Given the description of an element on the screen output the (x, y) to click on. 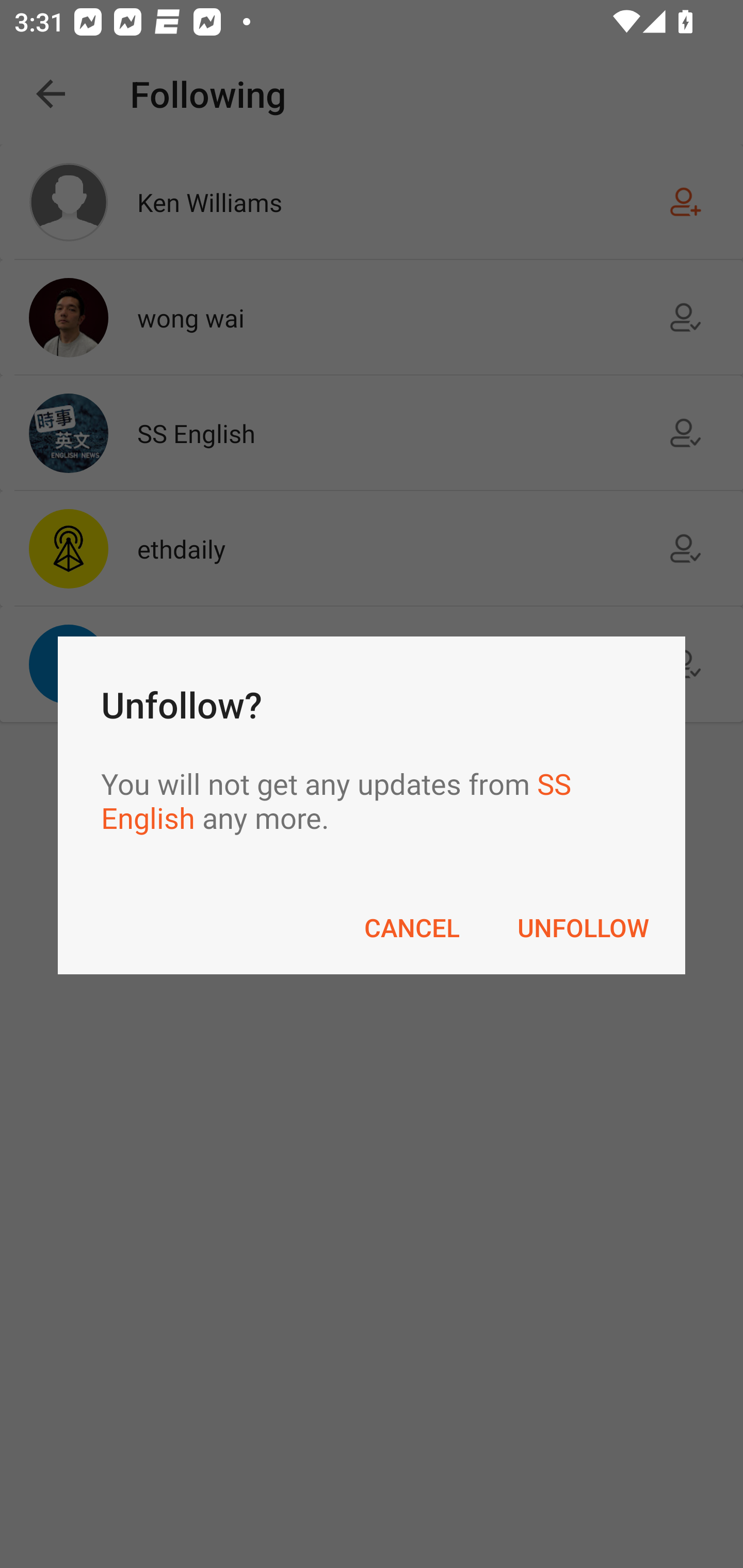
CANCEL (411, 927)
UNFOLLOW (582, 927)
